Given the description of an element on the screen output the (x, y) to click on. 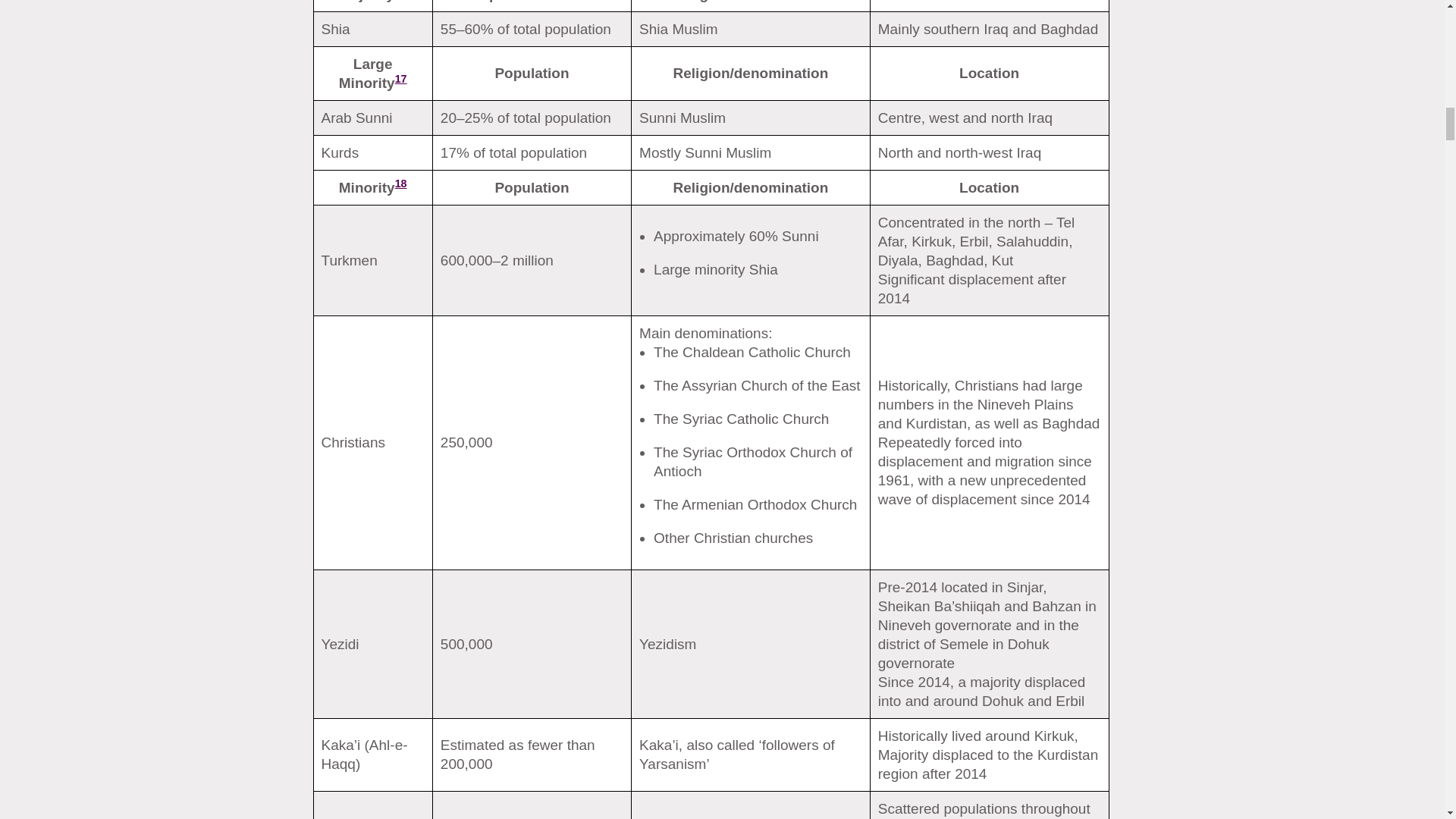
17 (400, 78)
18 (400, 183)
